Given the description of an element on the screen output the (x, y) to click on. 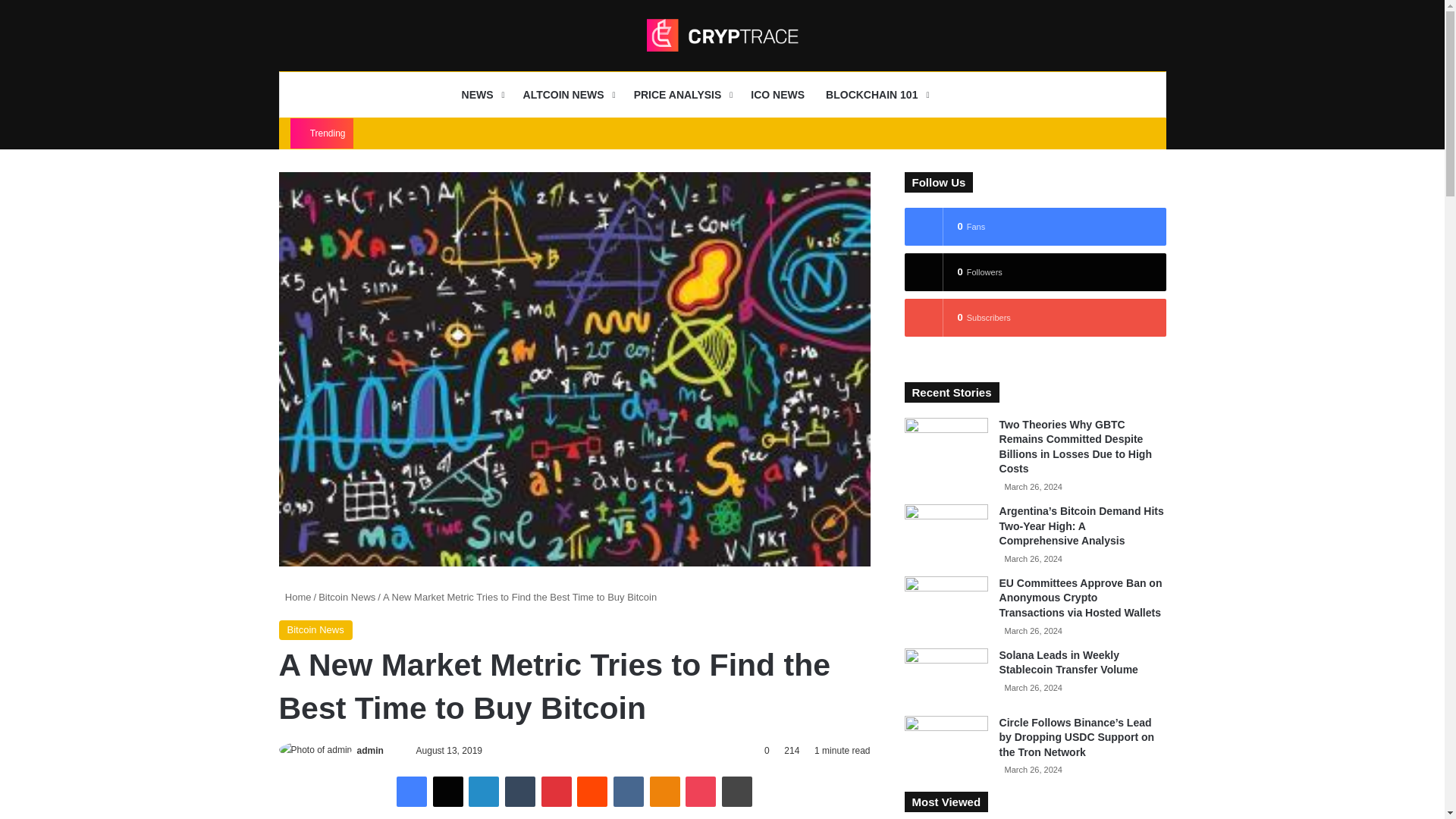
PRICE ANALYSIS (682, 94)
admin (370, 750)
BLOCKCHAIN 101 (875, 94)
Cryptrace (721, 34)
NEWS (481, 94)
ALTCOIN NEWS (567, 94)
Facebook (411, 791)
ICO NEWS (777, 94)
